Given the description of an element on the screen output the (x, y) to click on. 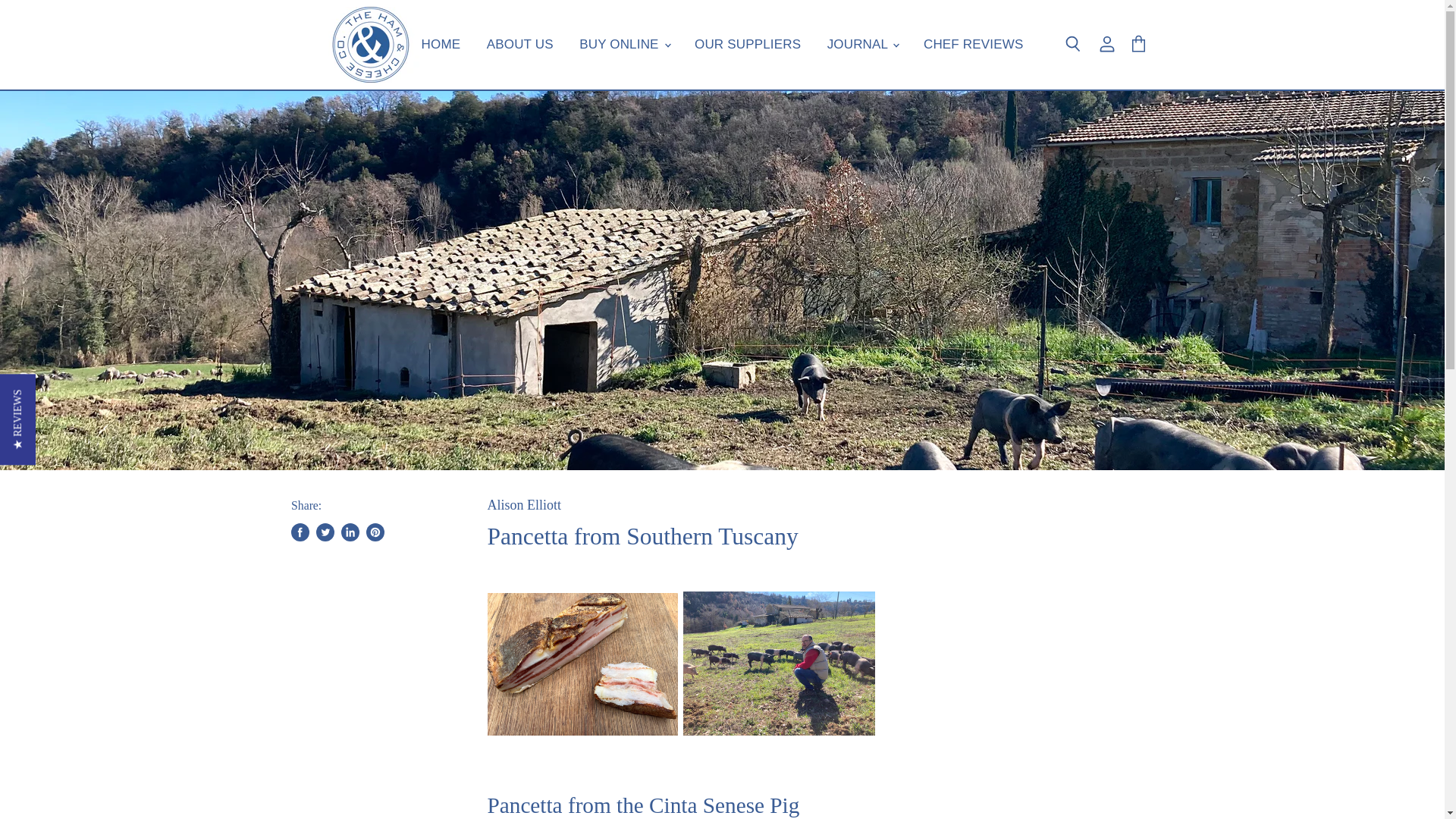
BUY ONLINE (623, 44)
ABOUT US (520, 44)
JOURNAL (861, 44)
OUR SUPPLIERS (747, 44)
HOME (440, 44)
